Given the description of an element on the screen output the (x, y) to click on. 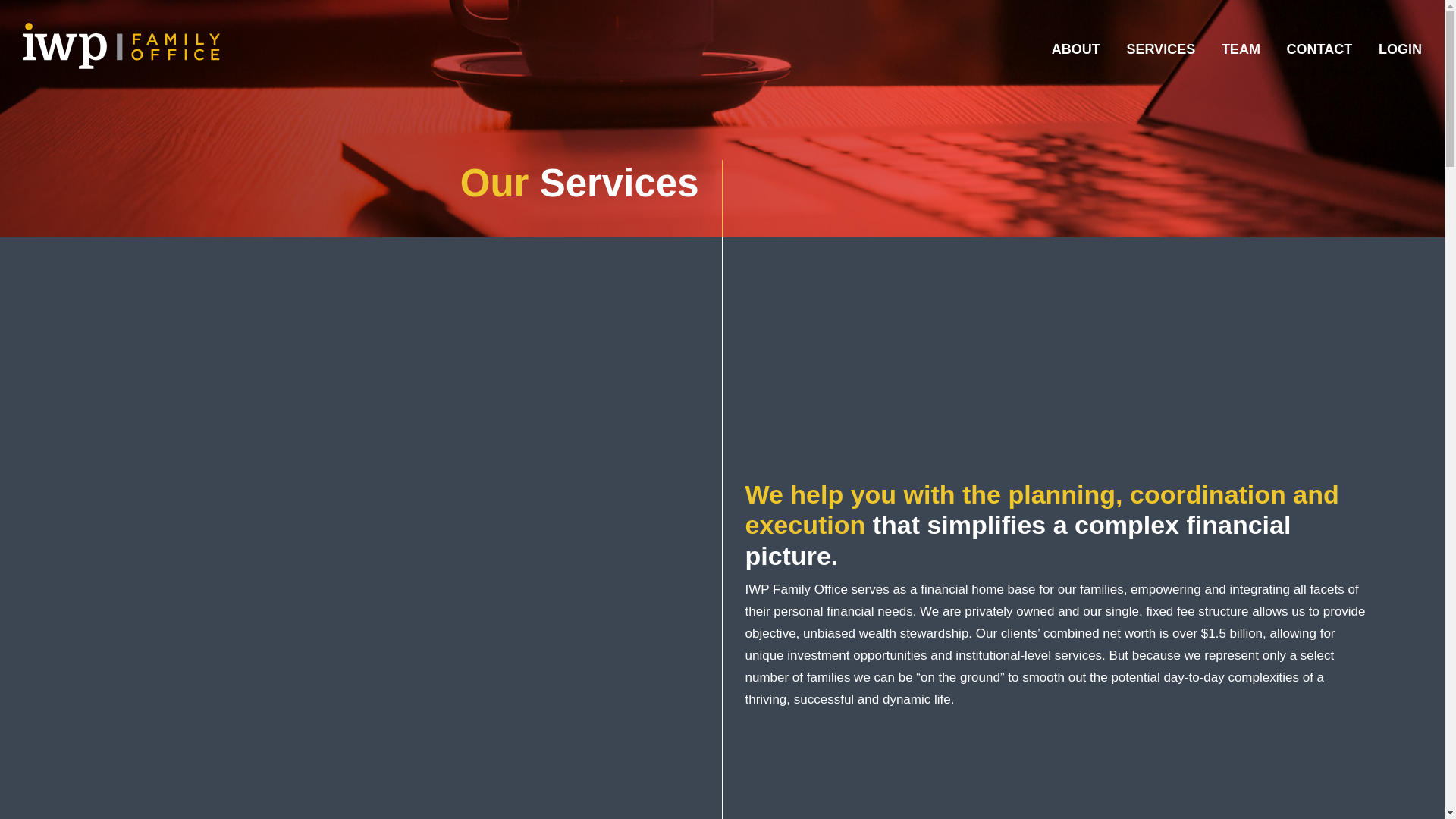
SERVICES (1160, 48)
ABOUT (1075, 48)
TEAM (1240, 48)
LOGIN (1400, 48)
CONTACT (1319, 48)
